Given the description of an element on the screen output the (x, y) to click on. 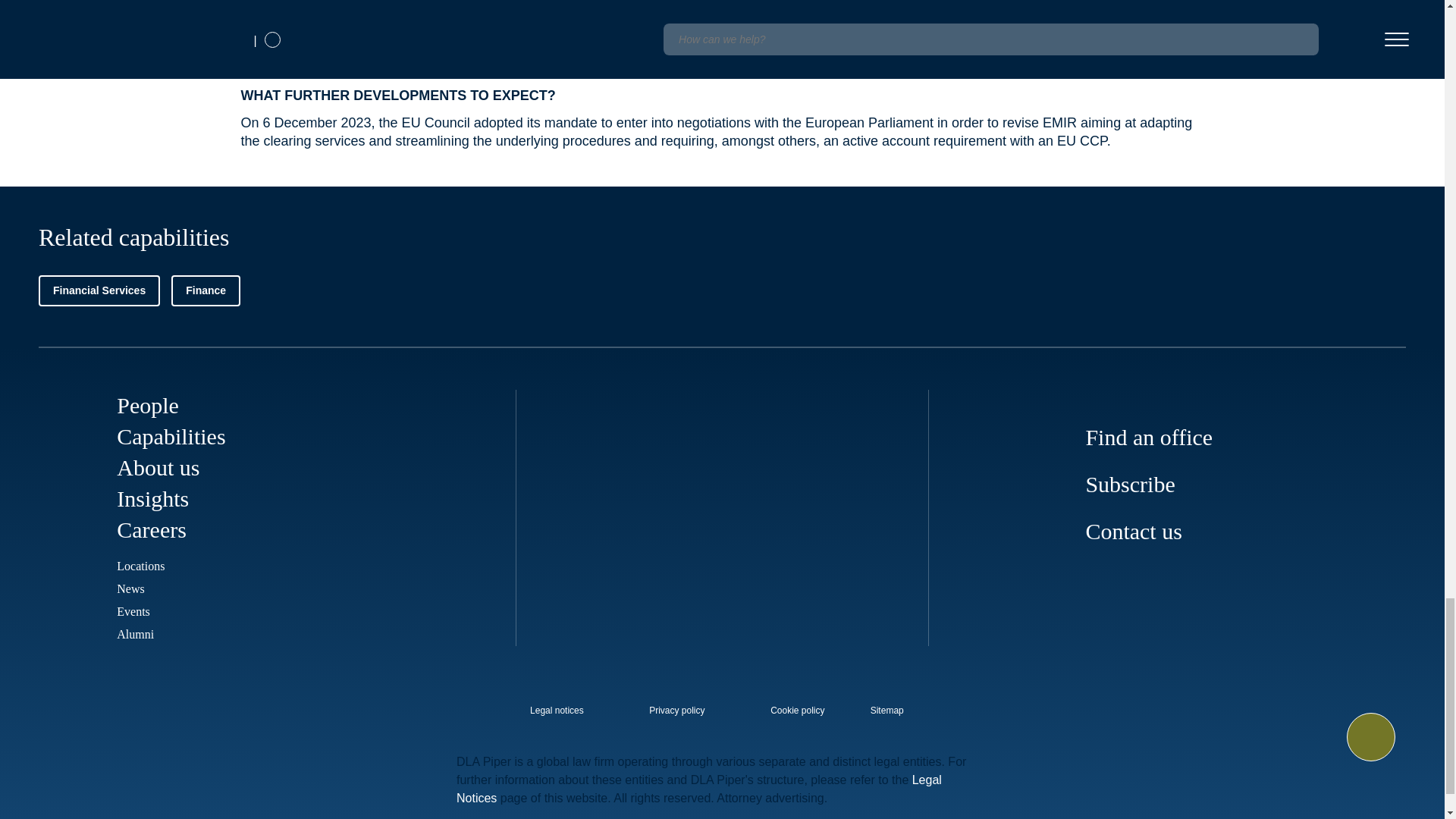
Locations (140, 565)
Alumni (135, 634)
internal (798, 710)
external (897, 706)
Capabilities (170, 436)
Insights (152, 498)
About us (157, 467)
Events (132, 611)
internal (676, 710)
Finance (205, 290)
Careers (151, 529)
Financial Services (99, 290)
internal (557, 710)
People (147, 405)
News (130, 588)
